Given the description of an element on the screen output the (x, y) to click on. 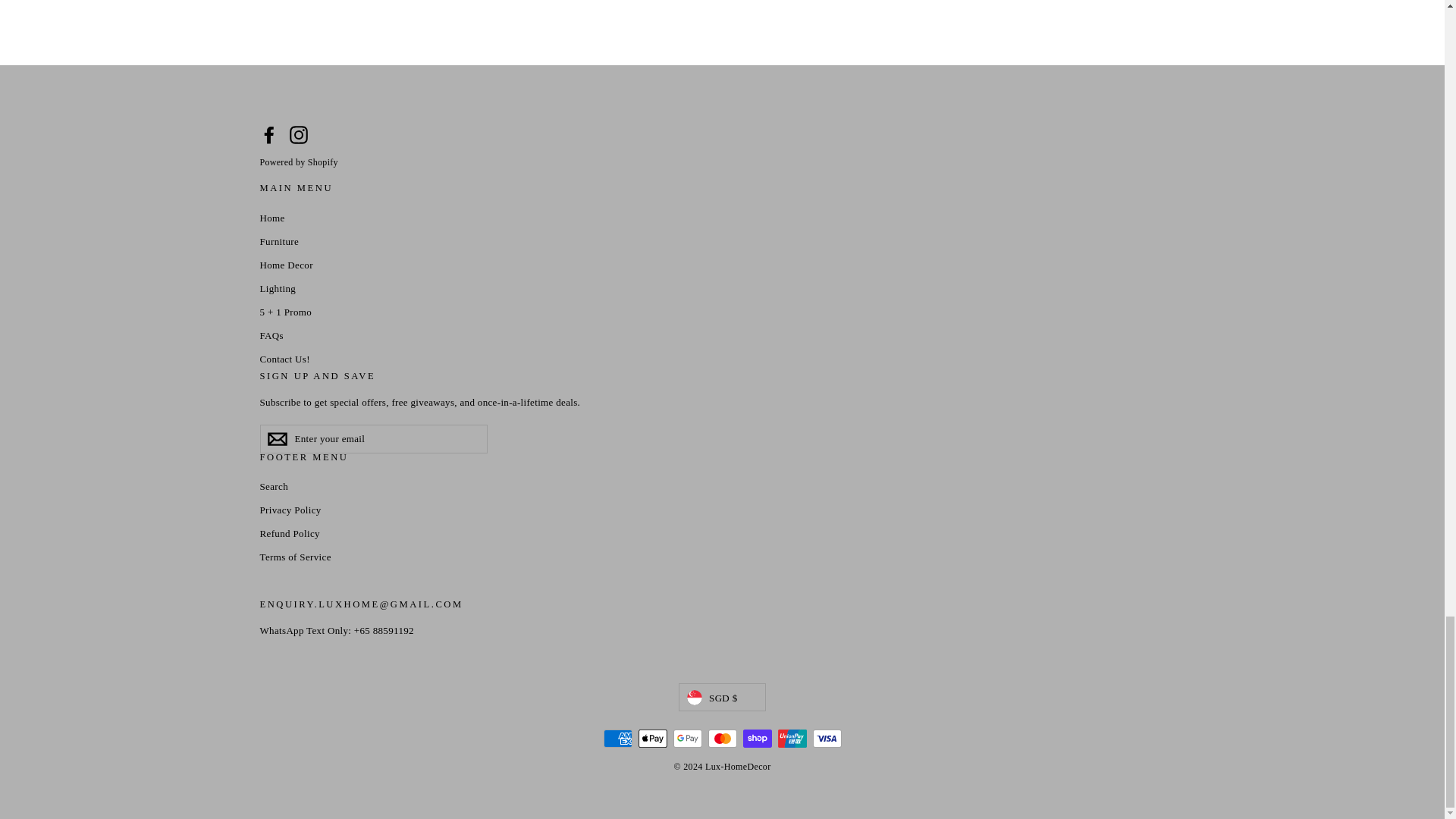
Union Pay (791, 738)
Shop Pay (756, 738)
American Express (617, 738)
Apple Pay (652, 738)
Lux-HomeDecor on Instagram (298, 135)
Mastercard (721, 738)
Google Pay (686, 738)
Lux-HomeDecor on Facebook (268, 135)
